Given the description of an element on the screen output the (x, y) to click on. 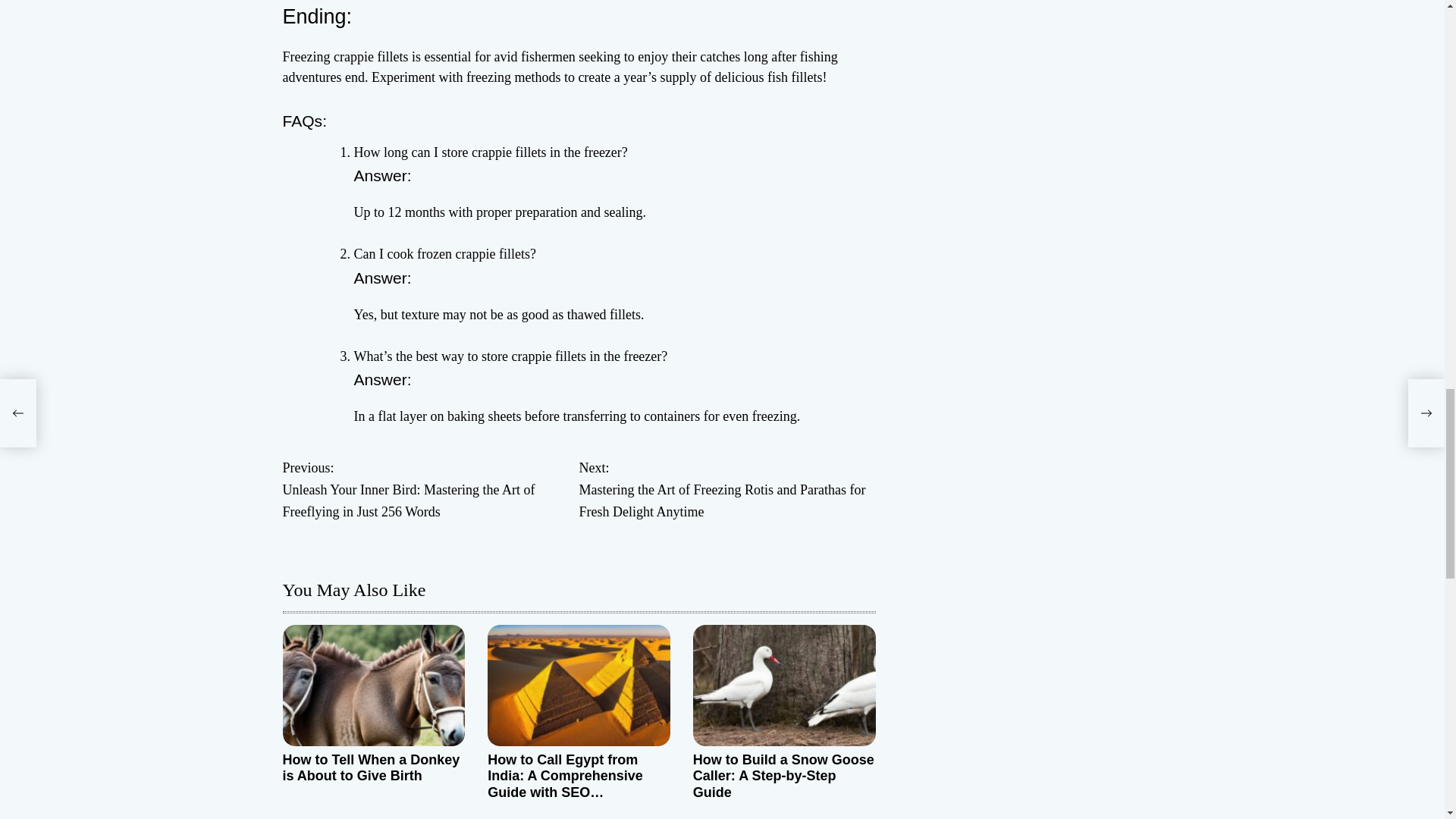
How to Tell When a Donkey is About to Give Birth (371, 767)
How to Build a Snow Goose Caller: A Step-by-Step Guide (784, 776)
